Given the description of an element on the screen output the (x, y) to click on. 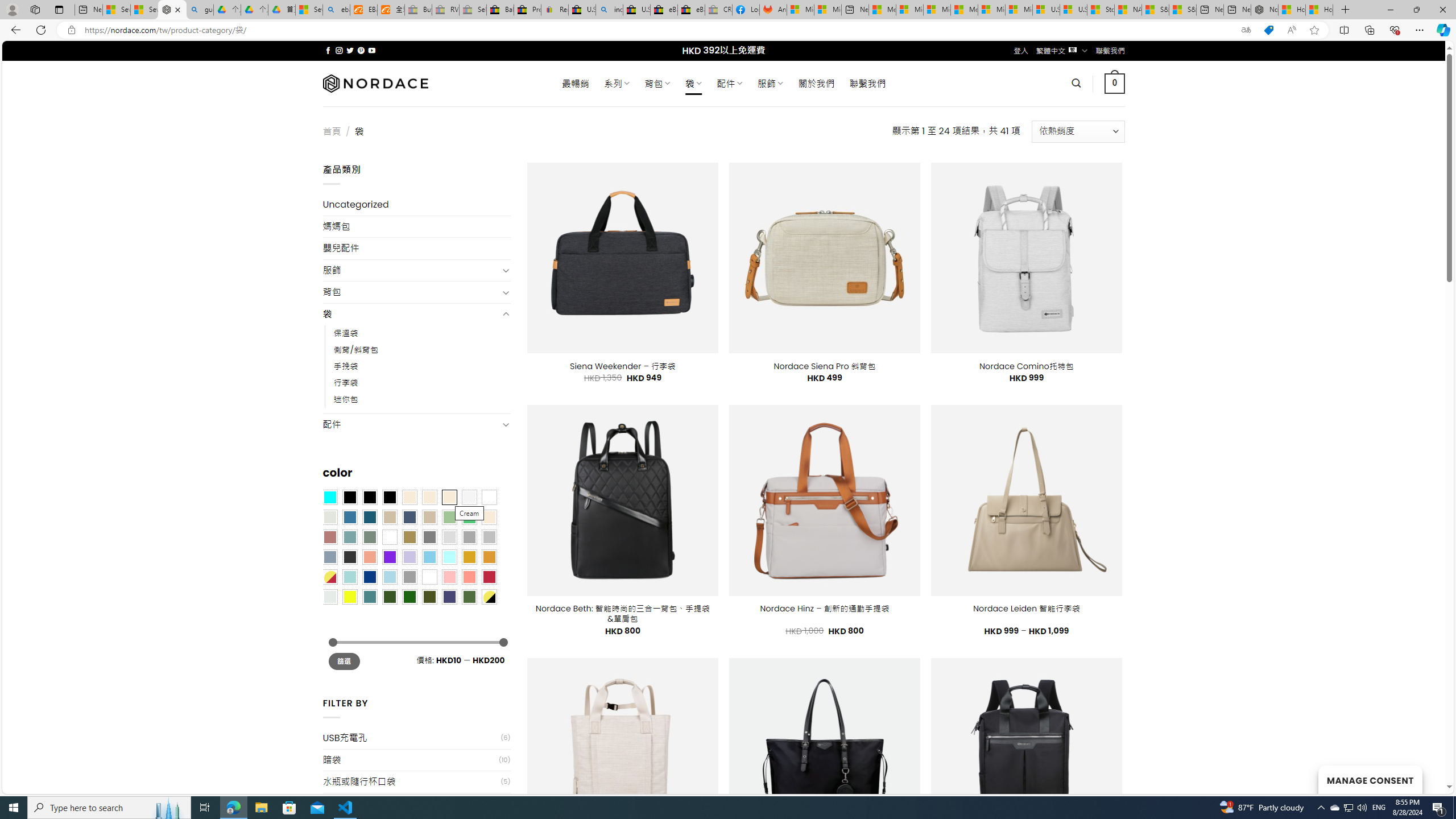
Follow on Twitter (349, 50)
